Given the description of an element on the screen output the (x, y) to click on. 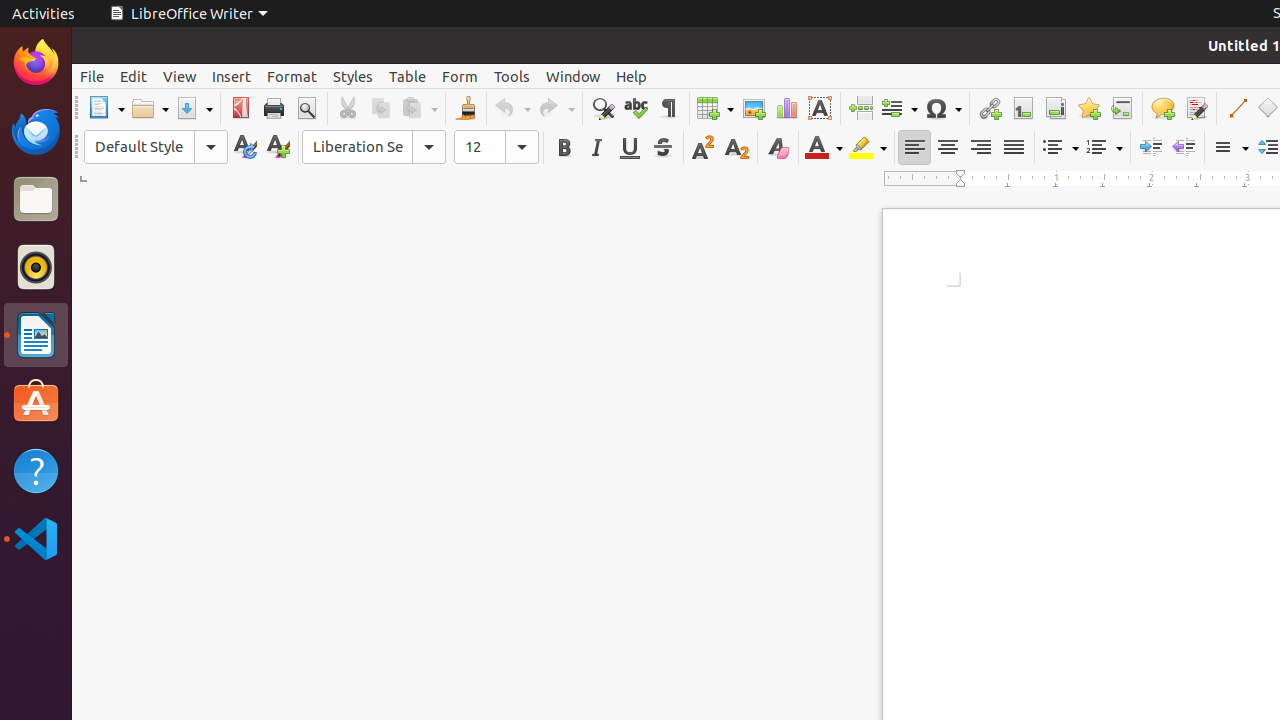
New Element type: push-button (277, 147)
Insert Element type: menu (231, 76)
Format Element type: menu (292, 76)
Window Element type: menu (573, 76)
Spelling Element type: push-button (635, 108)
